Given the description of an element on the screen output the (x, y) to click on. 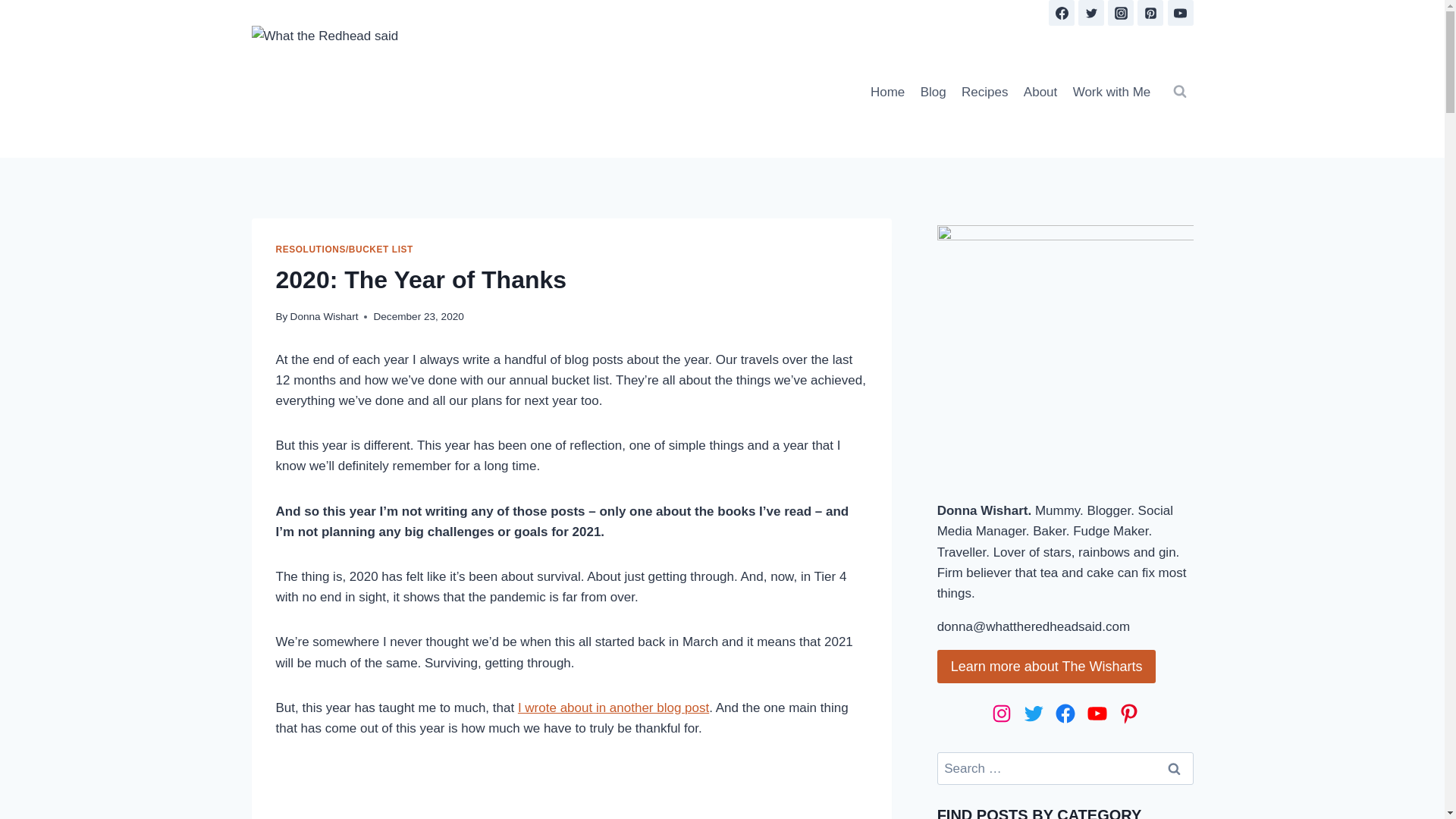
Recipes (984, 91)
Home (887, 91)
Work with Me (1110, 91)
About (1040, 91)
Search (1174, 768)
Search (1174, 768)
I wrote about in another blog post (613, 707)
Donna Wishart (323, 316)
Blog (932, 91)
